Given the description of an element on the screen output the (x, y) to click on. 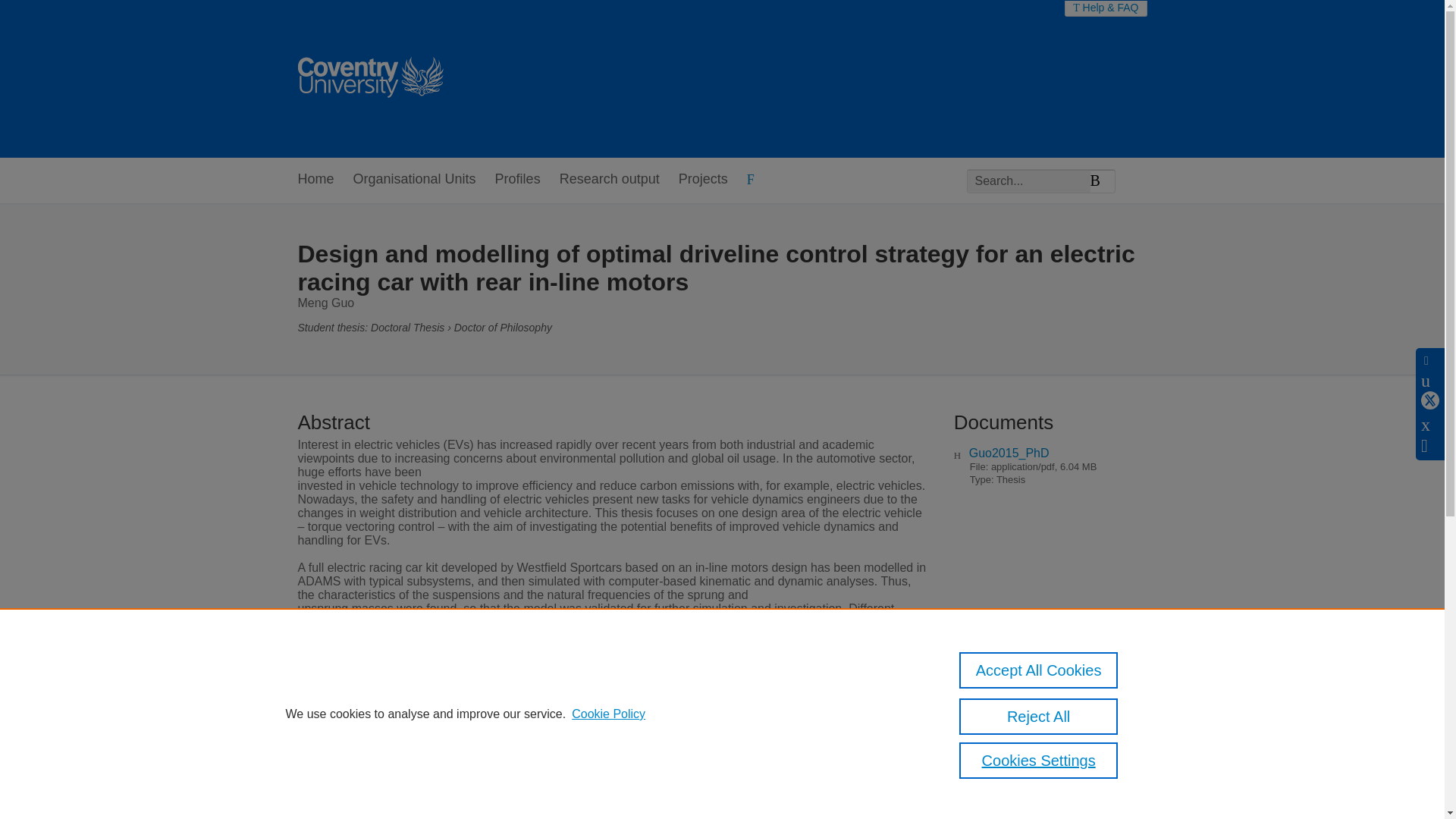
Reject All (1038, 716)
Accept All Cookies (1038, 669)
Research output (609, 180)
Cookies Settings (1038, 760)
Organisational Units (414, 180)
Coventry University Home (369, 78)
Profiles (517, 180)
Cookie Policy (608, 713)
Projects (703, 180)
